Given the description of an element on the screen output the (x, y) to click on. 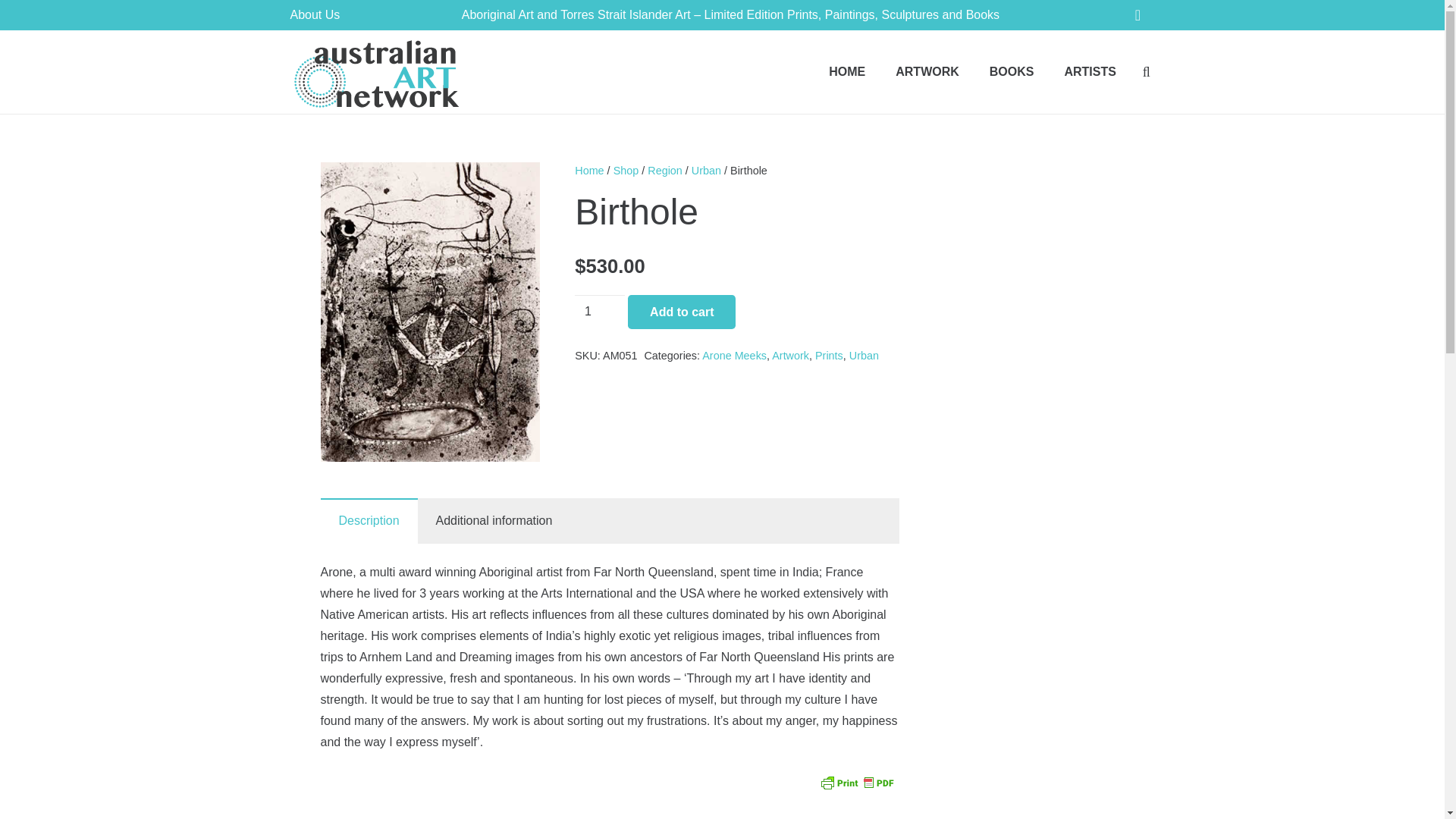
ARTWORK (927, 71)
BOOKS (1011, 71)
Region (664, 170)
1 (599, 311)
Shop (625, 170)
ARTISTS (1089, 71)
Additional information (493, 520)
0 (1137, 16)
Artwork (790, 355)
About Us (314, 14)
Urban (863, 355)
Qty (599, 311)
Description (368, 520)
Add to cart (681, 311)
Urban (705, 170)
